Given the description of an element on the screen output the (x, y) to click on. 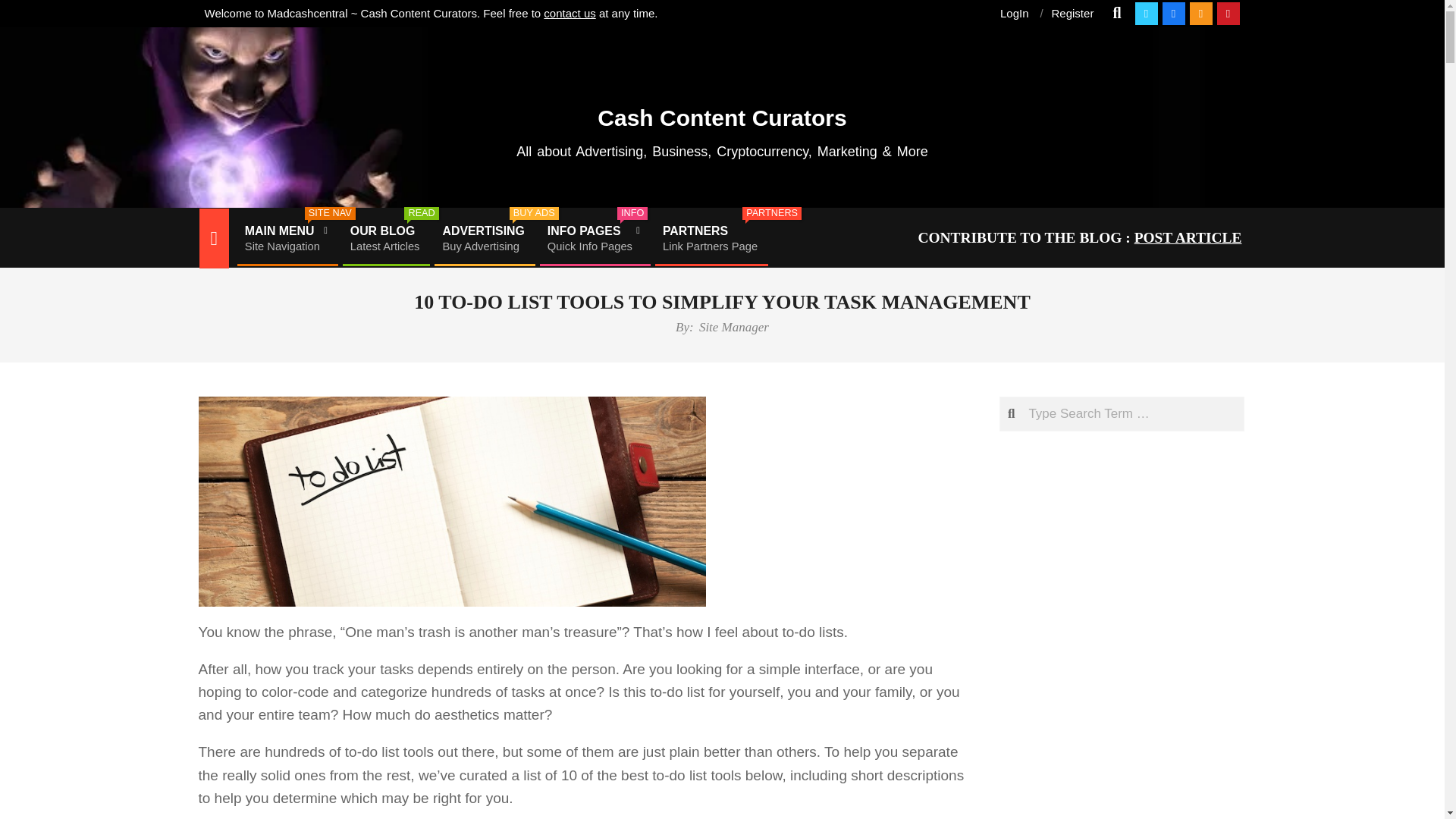
to-do-list-tools.jpeg (482, 238)
Posts by Site Manager (452, 501)
Quick Info Pages (733, 327)
Site Navigation (592, 238)
LogIn (285, 238)
contact us (721, 110)
Register (1014, 12)
Search (384, 238)
